Given the description of an element on the screen output the (x, y) to click on. 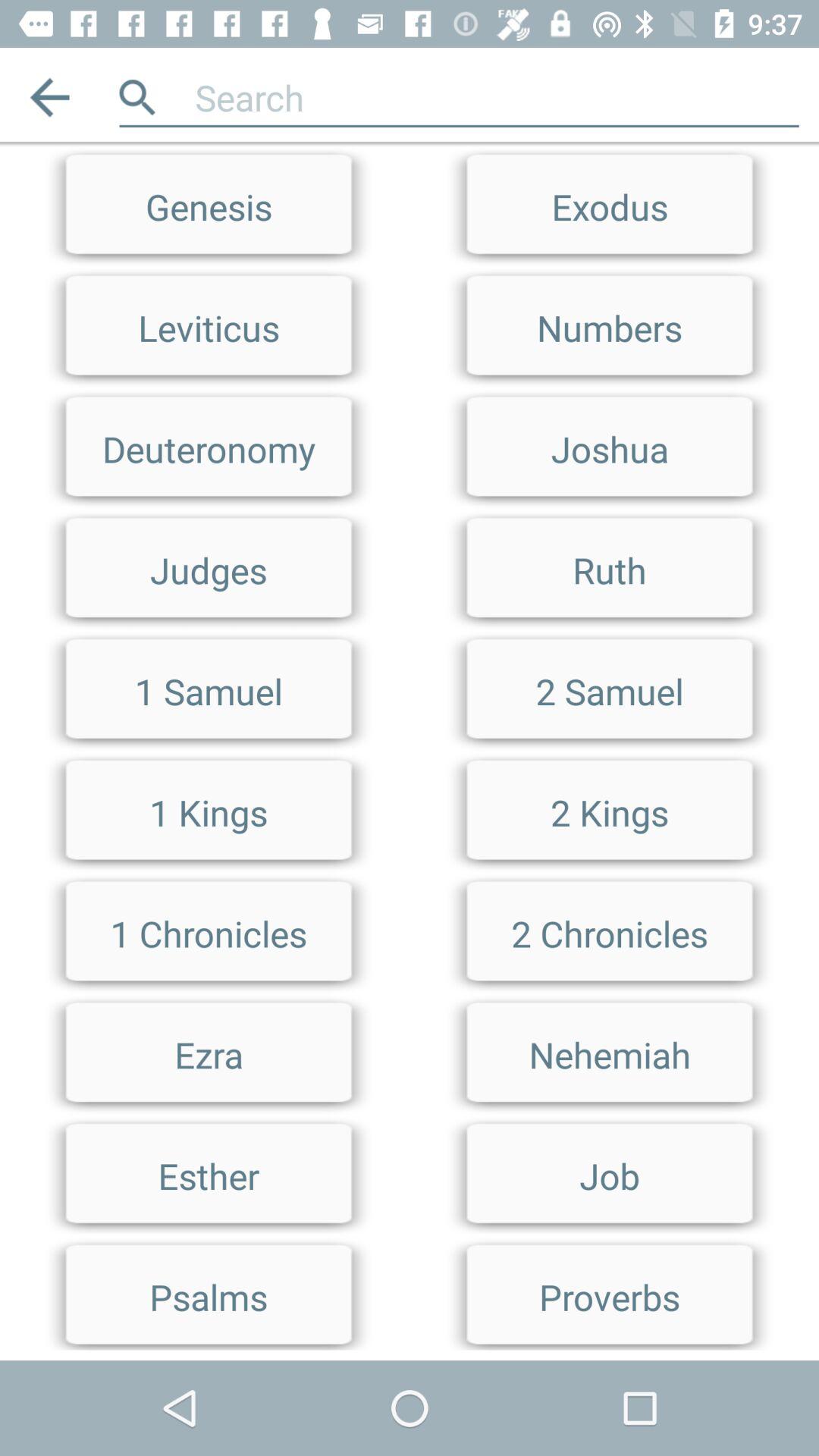
turn on the item above genesis item (49, 97)
